Given the description of an element on the screen output the (x, y) to click on. 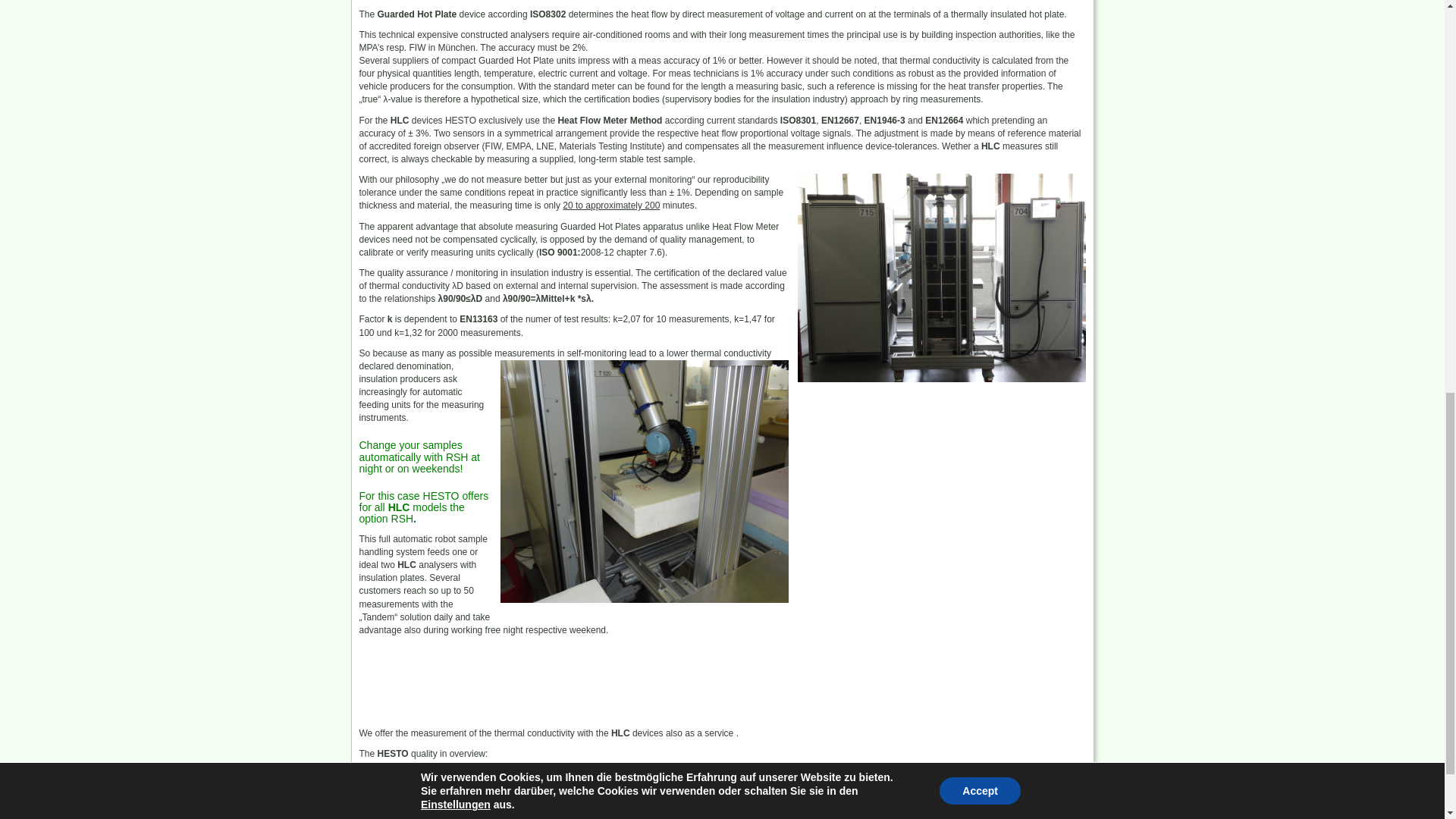
RSH (402, 518)
